Given the description of an element on the screen output the (x, y) to click on. 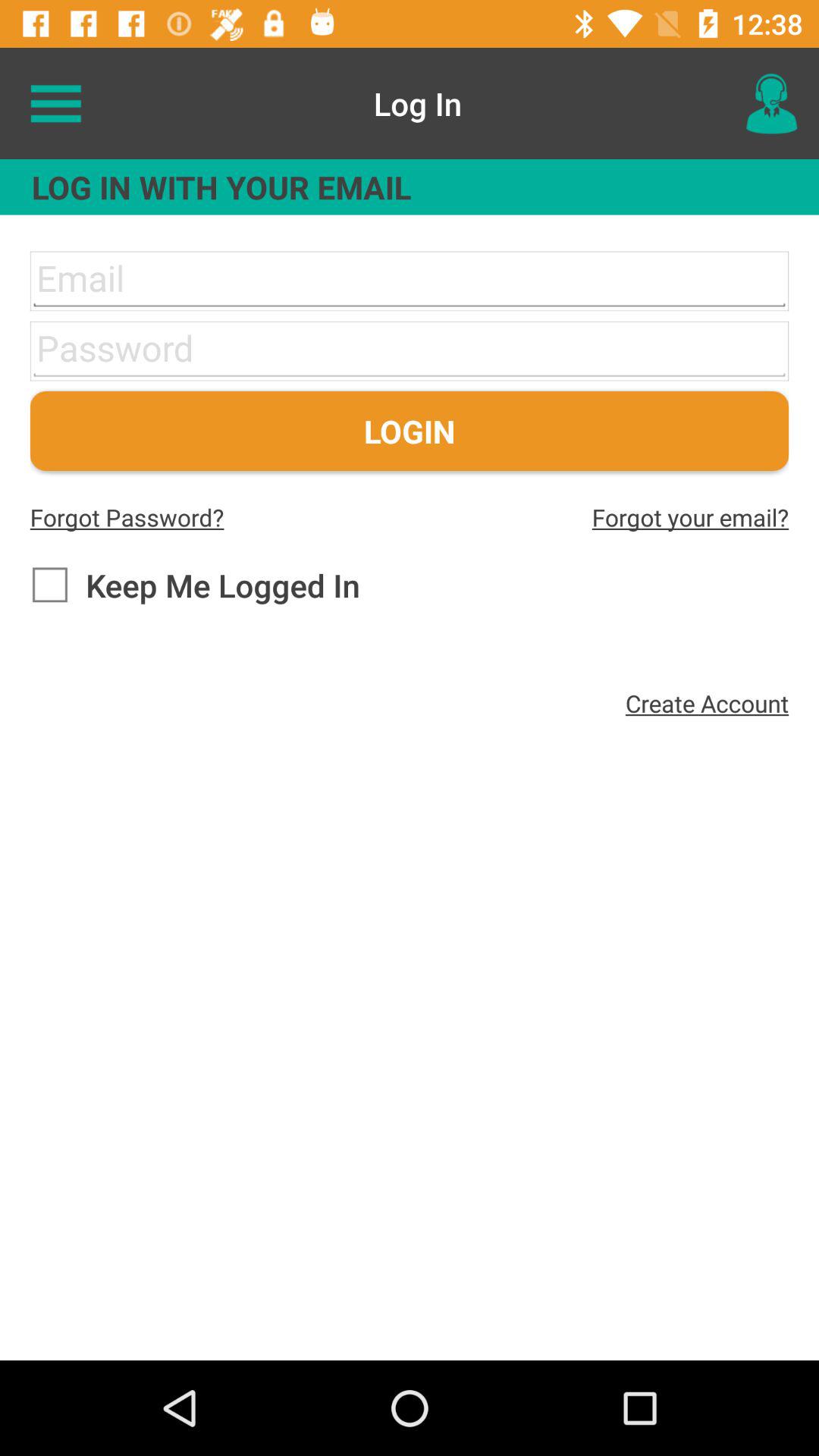
swipe to create account icon (706, 703)
